Given the description of an element on the screen output the (x, y) to click on. 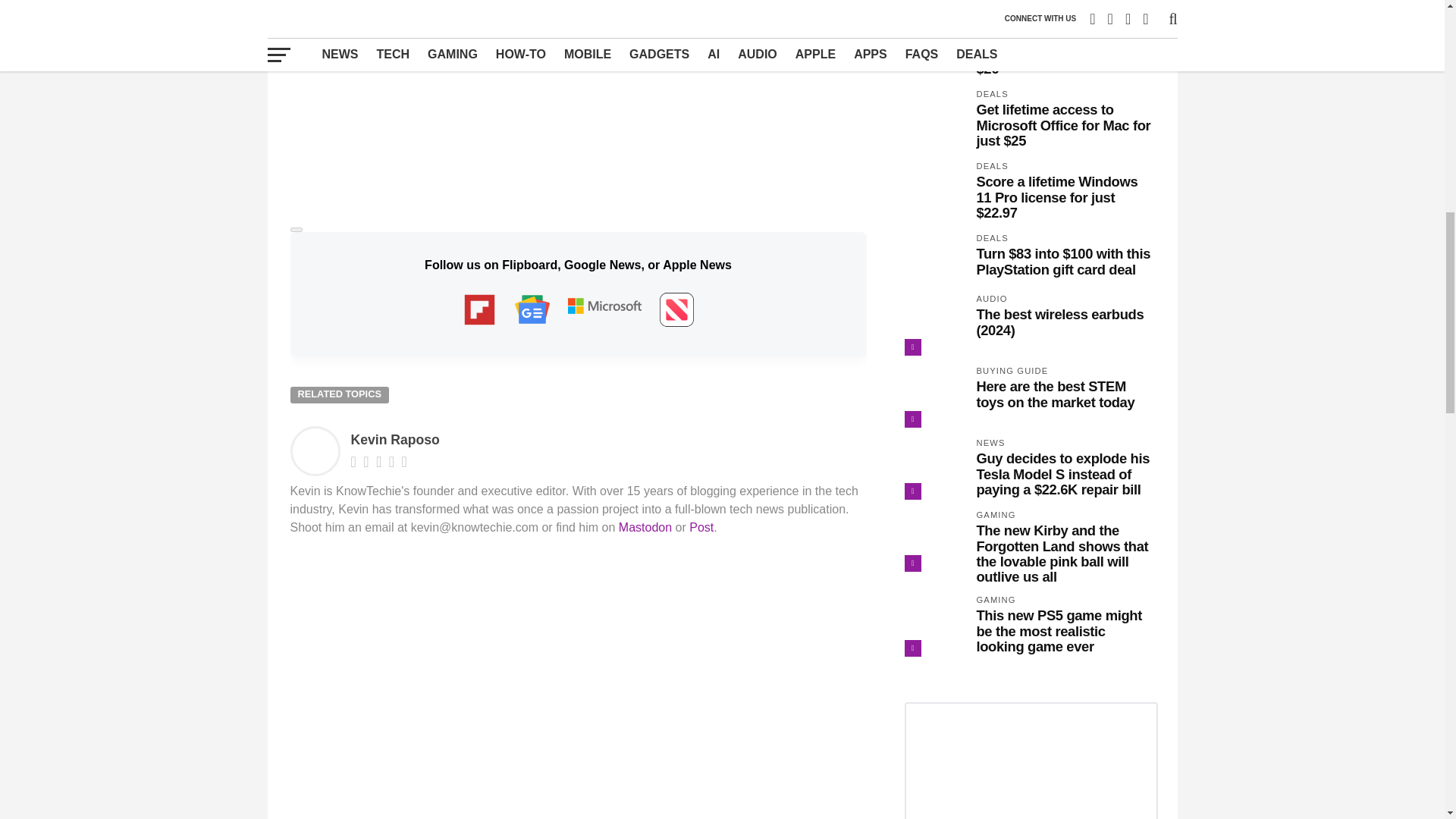
Posts by Kevin Raposo (394, 439)
